Given the description of an element on the screen output the (x, y) to click on. 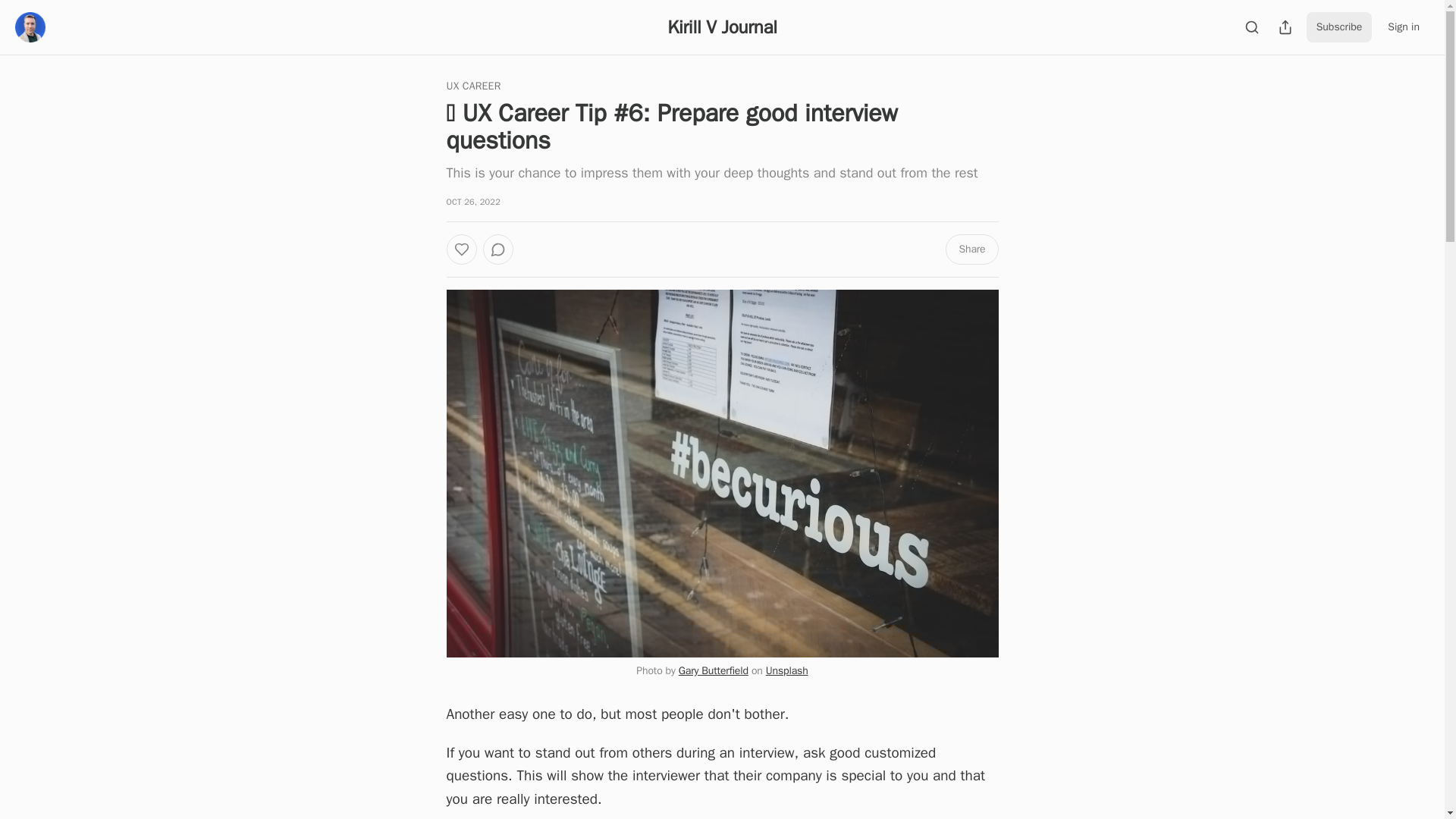
Unsplash (786, 670)
Subscribe (1339, 27)
Gary Butterfield (713, 670)
UX CAREER (472, 86)
Sign in (1403, 27)
Kirill V Journal (721, 26)
Share (970, 249)
